Given the description of an element on the screen output the (x, y) to click on. 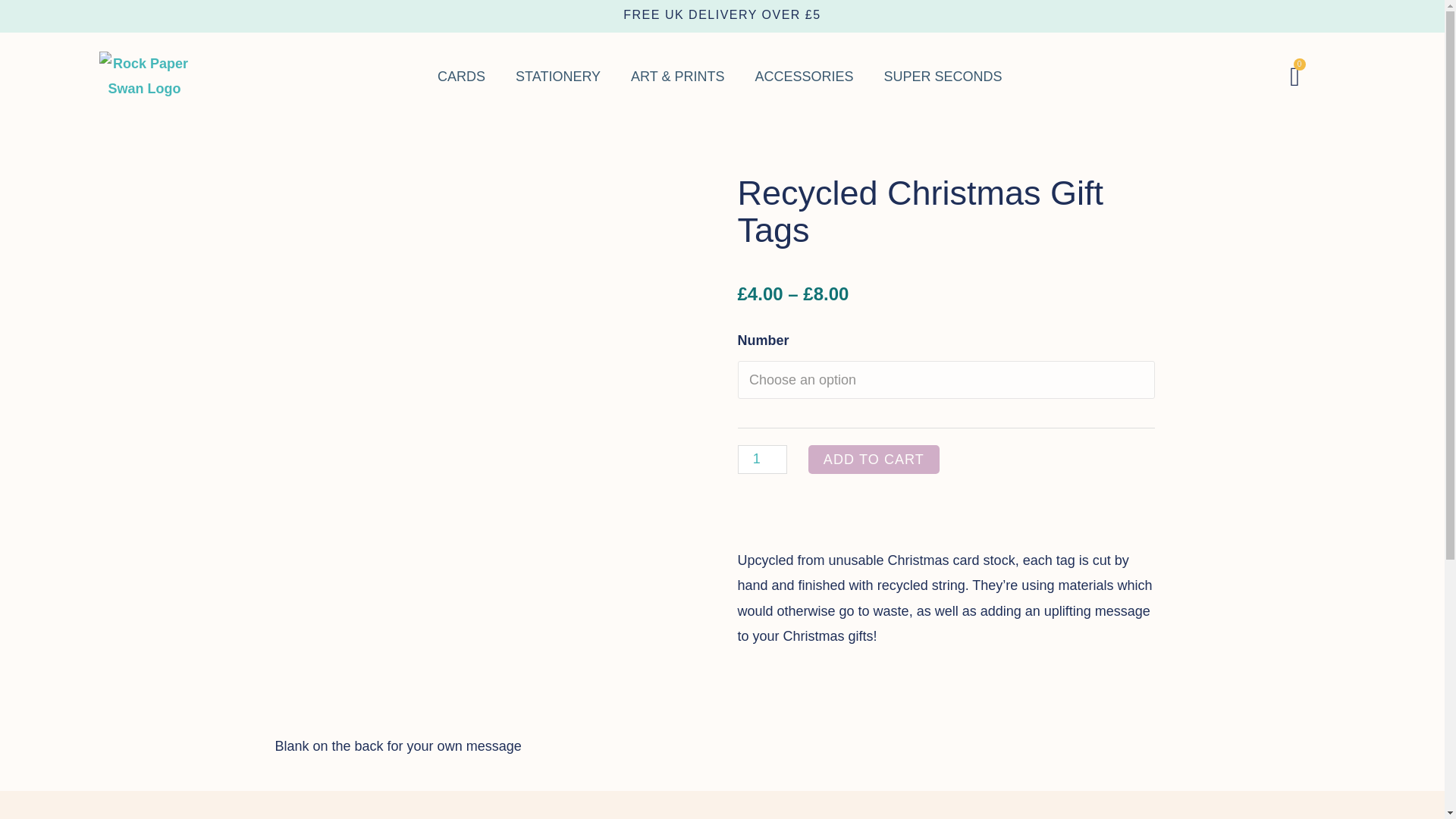
SUPER SECONDS (943, 76)
Rock Paper Swan Logo (1295, 76)
STATIONERY (144, 76)
ACCESSORIES (557, 76)
1 (803, 76)
CARDS (761, 459)
